Given the description of an element on the screen output the (x, y) to click on. 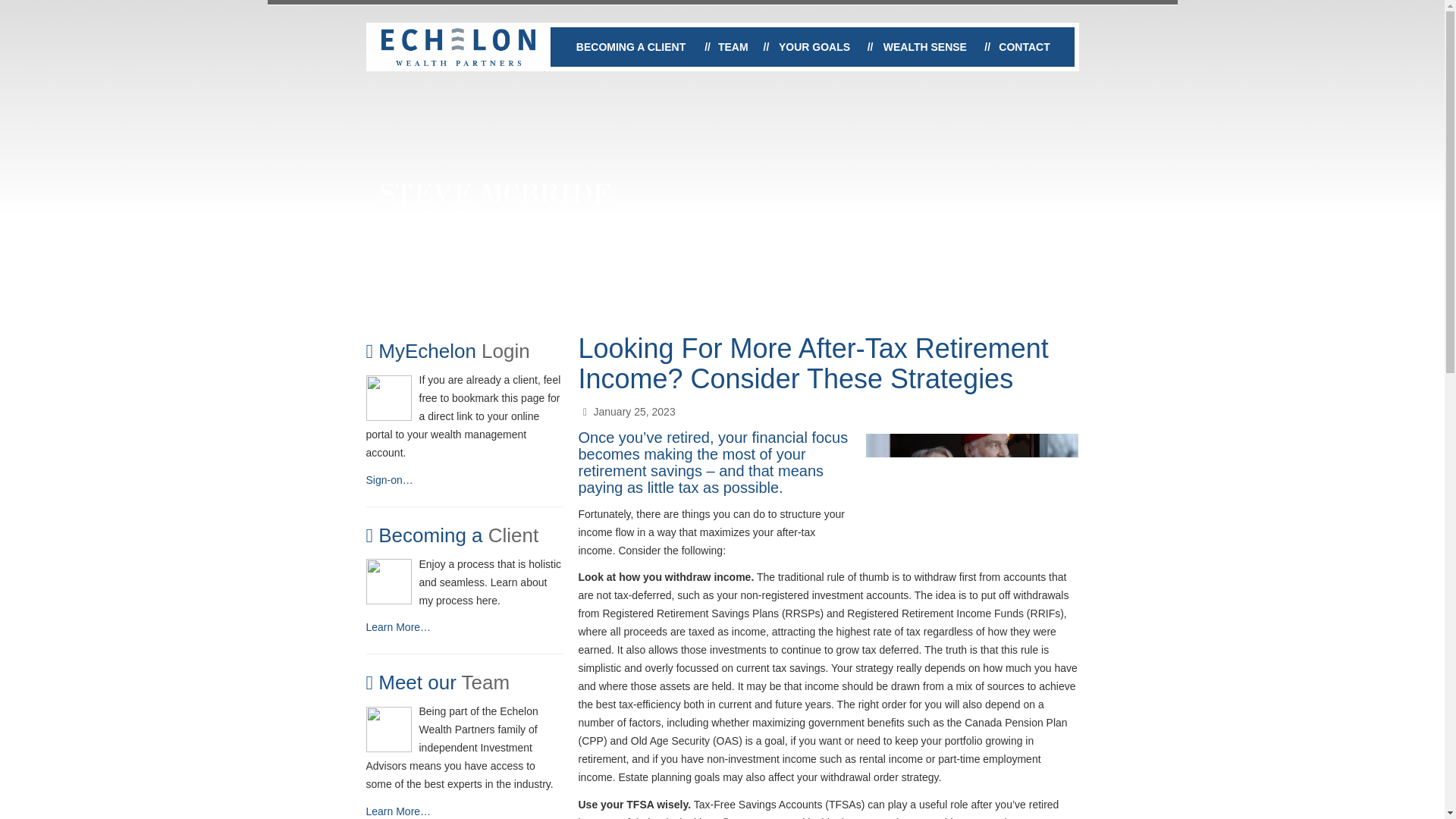
WEALTH SENSE (925, 46)
TEAM (732, 46)
YOUR GOALS (814, 46)
CONTACT (1024, 46)
BECOMING A CLIENT (630, 46)
